Given the description of an element on the screen output the (x, y) to click on. 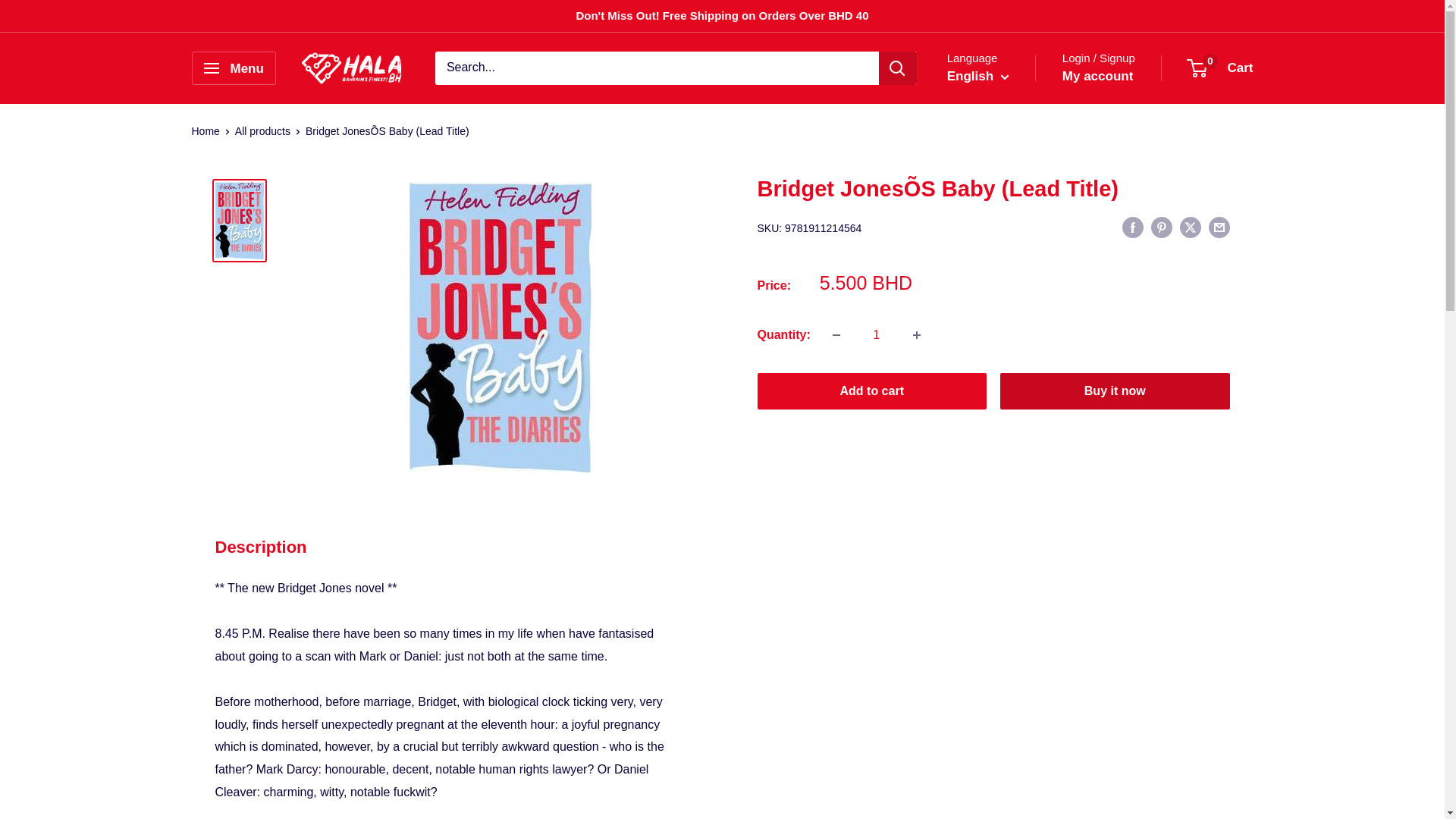
1 (876, 335)
Increase quantity by 1 (917, 335)
Decrease quantity by 1 (836, 335)
